Given the description of an element on the screen output the (x, y) to click on. 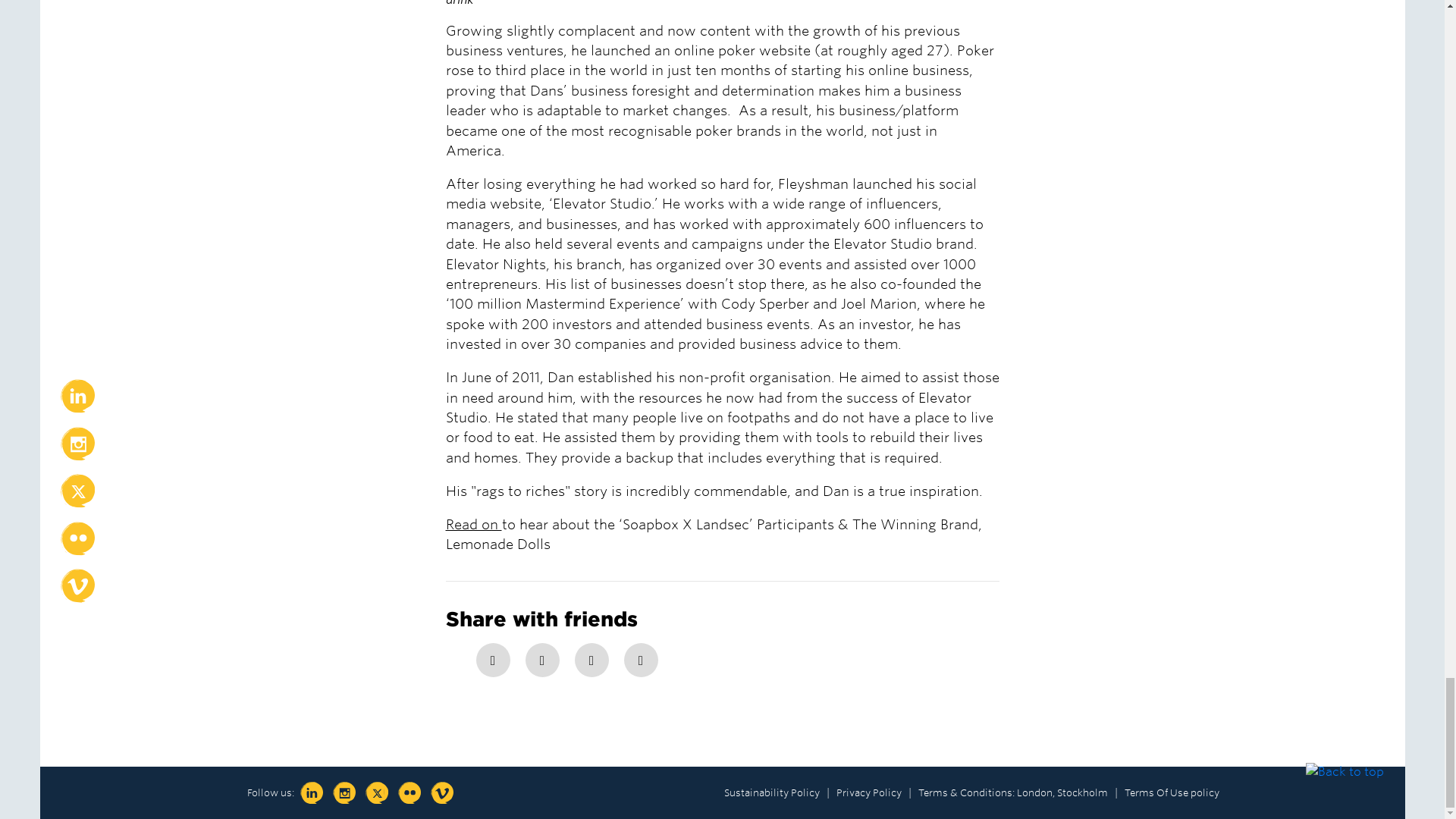
Pinterest (591, 659)
Sustainability Policy (770, 792)
Terms Of Use policy (1171, 792)
Facebook (493, 659)
LinkedIn (640, 659)
Read on (473, 524)
London (1033, 792)
Twitter (541, 659)
Stockholm (1082, 792)
Privacy Policy (868, 792)
